Given the description of an element on the screen output the (x, y) to click on. 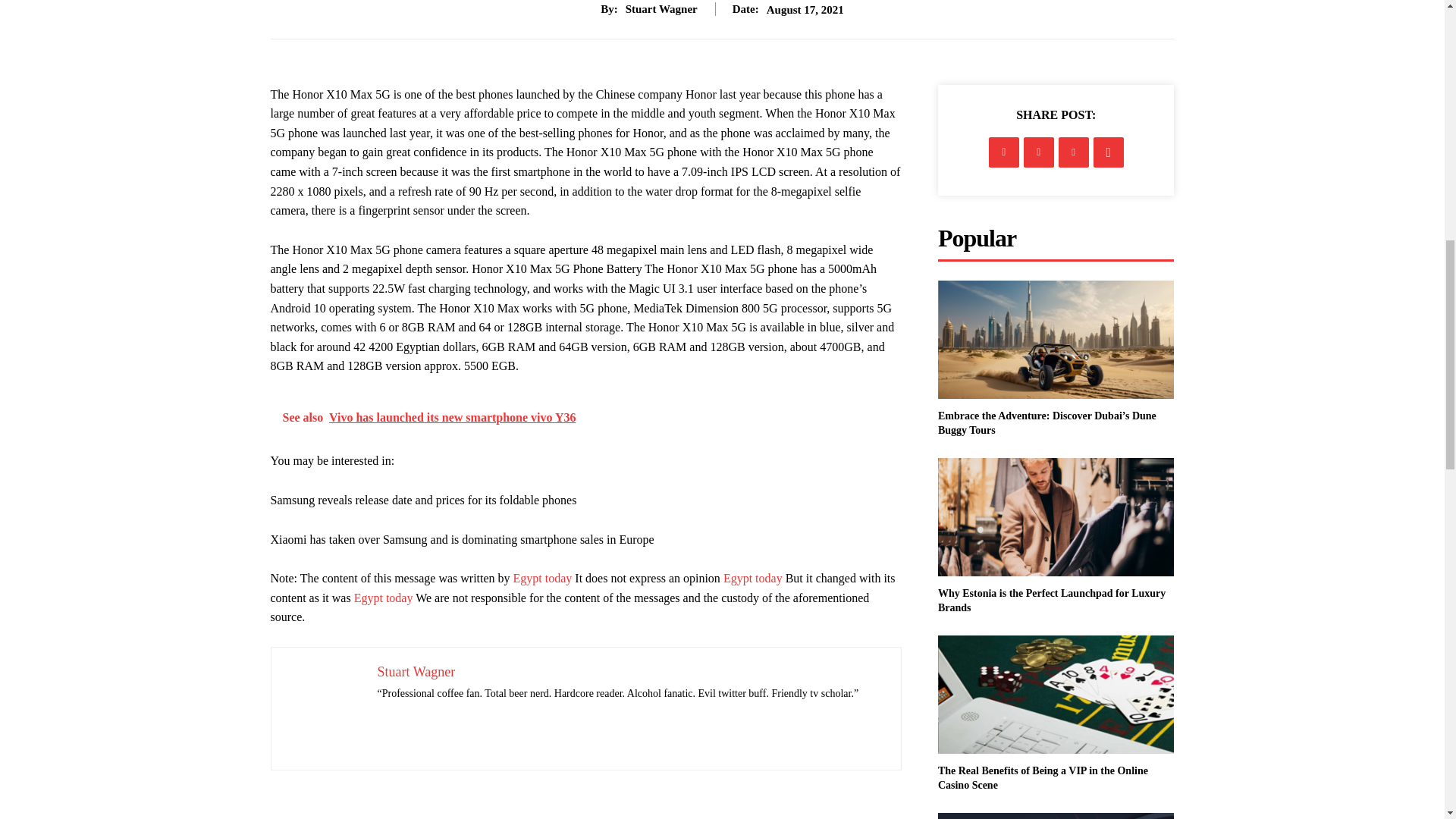
The Real Benefits of Being a VIP in the Online Casino Scene (1042, 777)
Twitter (1038, 152)
WhatsApp (1108, 152)
Why Estonia is the Perfect Launchpad for Luxury Brands (1051, 601)
The Real Benefits of Being a VIP in the Online Casino Scene (1055, 694)
Facebook (1003, 152)
Pinterest (1073, 152)
Why Estonia is the Perfect Launchpad for Luxury Brands (1055, 516)
